Given the description of an element on the screen output the (x, y) to click on. 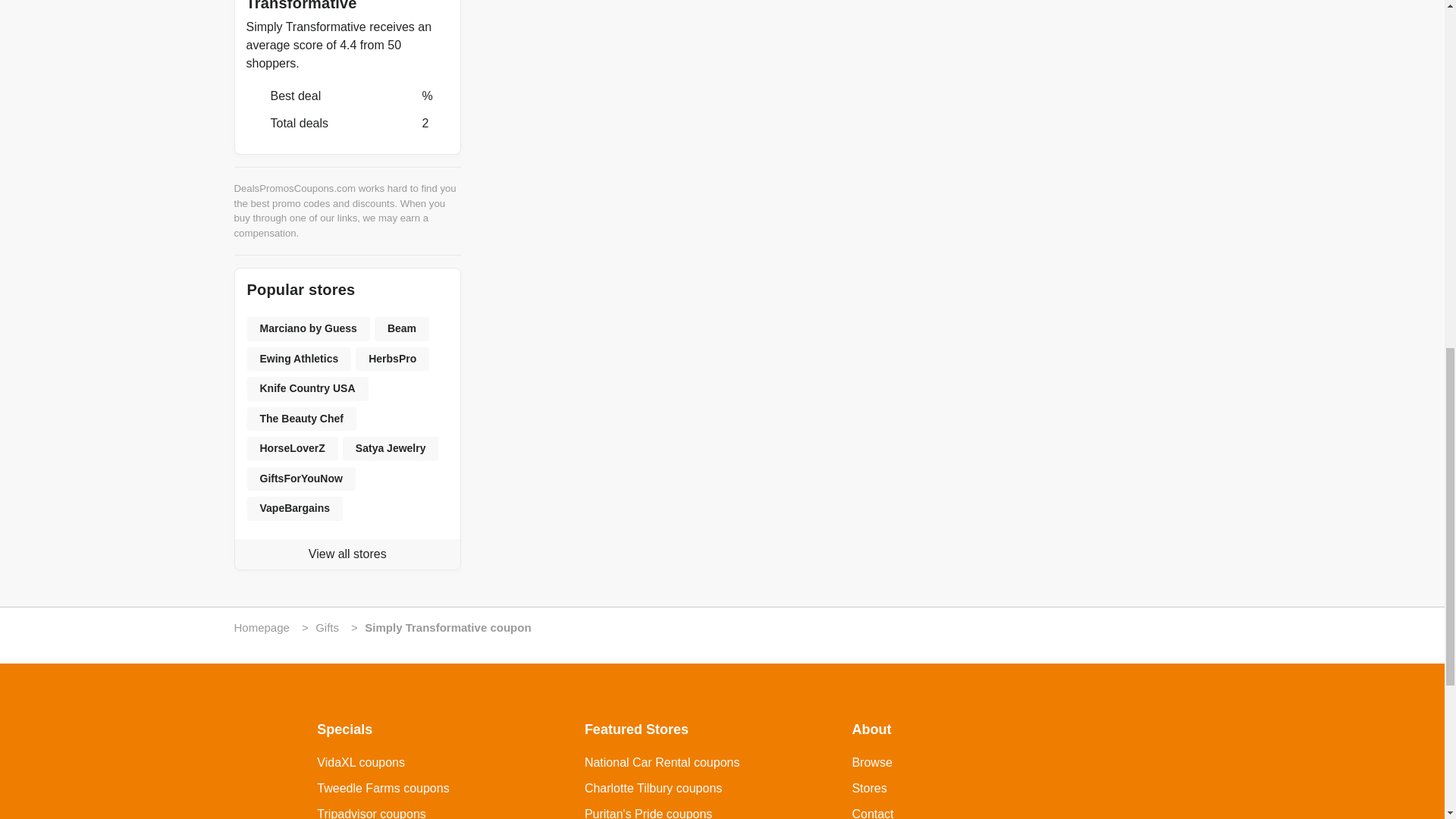
Homepage (260, 626)
Beam (401, 328)
HerbsPro (392, 359)
VapeBargains (295, 508)
GiftsForYouNow (301, 478)
Satya Jewelry (390, 448)
Ewing Athletics (299, 359)
Ewing Athletics coupon (299, 359)
View all stores (347, 553)
Marciano by Guess coupon (308, 328)
HerbsPro coupon (392, 359)
The Beauty Chef (301, 419)
Beam coupon (401, 328)
Simply Transformative coupon (448, 626)
Marciano by Guess (308, 328)
